Given the description of an element on the screen output the (x, y) to click on. 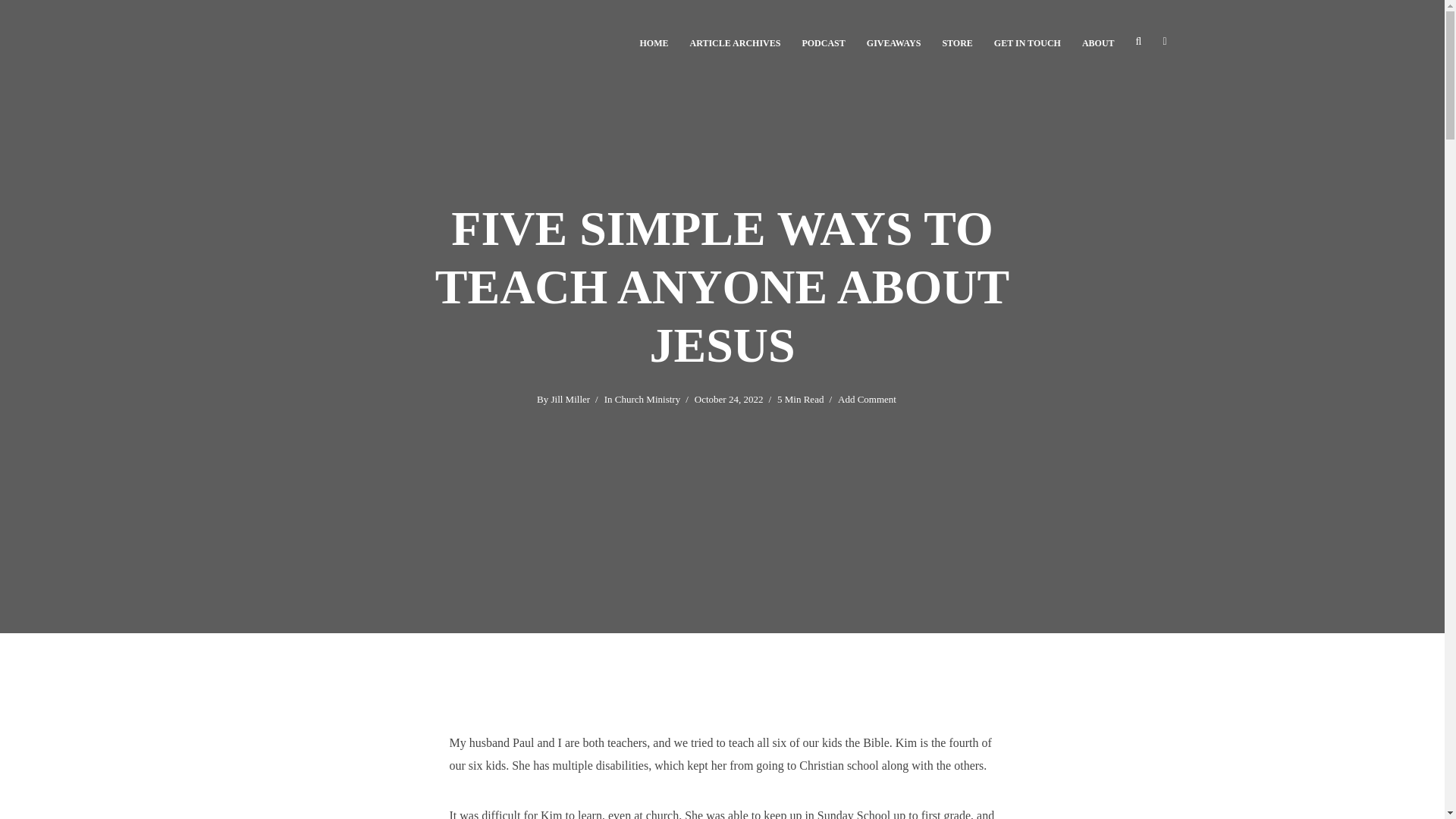
Article Archives (735, 40)
Add Comment (867, 400)
GET IN TOUCH (1027, 40)
Jill Miller (569, 400)
HOME (653, 40)
Home (653, 40)
STORE (956, 40)
ABOUT (1098, 40)
New Growth Press (956, 40)
Church Ministry (646, 400)
GIVEAWAYS (893, 40)
PODCAST (823, 40)
About (1098, 40)
ARTICLE ARCHIVES (735, 40)
